Given the description of an element on the screen output the (x, y) to click on. 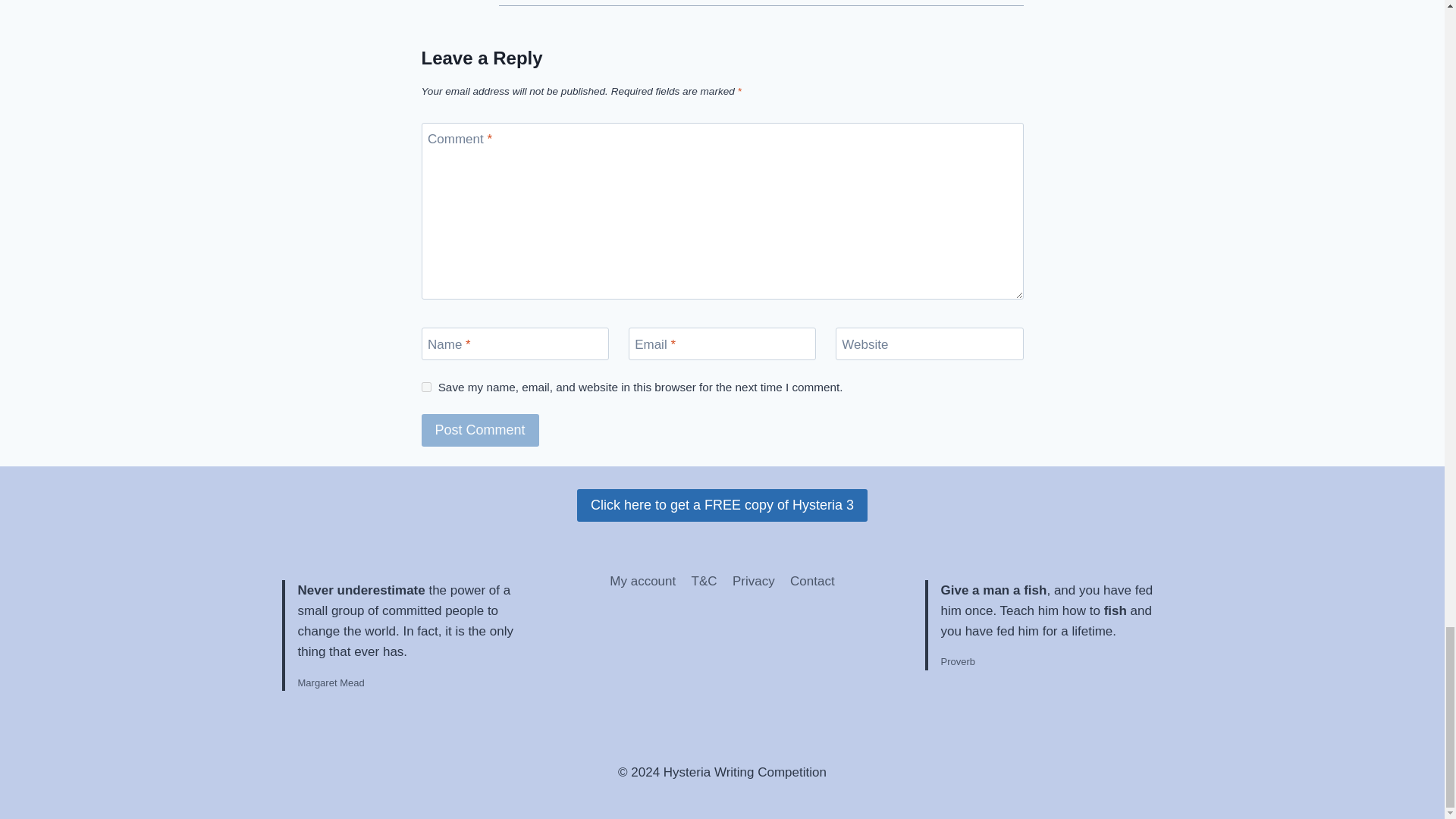
Post Comment (480, 430)
yes (426, 387)
